Given the description of an element on the screen output the (x, y) to click on. 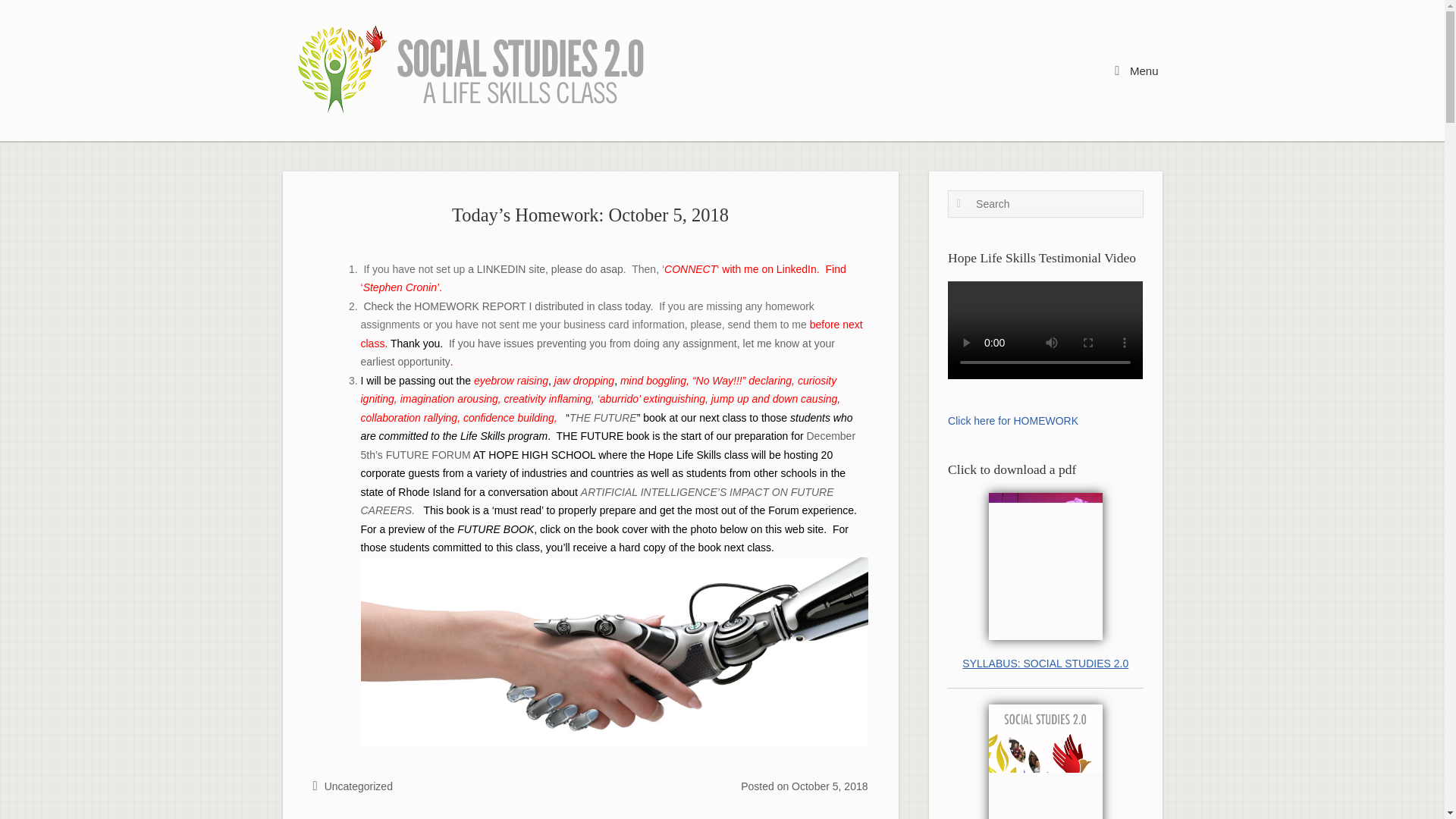
Menu (1136, 69)
11:09 pm (829, 786)
October 5, 2018 (829, 786)
SYLLABUS: SOCIAL STUDIES 2.0 (1044, 663)
Search (34, 15)
Click here for HOMEWORK (1012, 420)
Hope Life Skills (473, 70)
Uncategorized (358, 786)
